Given the description of an element on the screen output the (x, y) to click on. 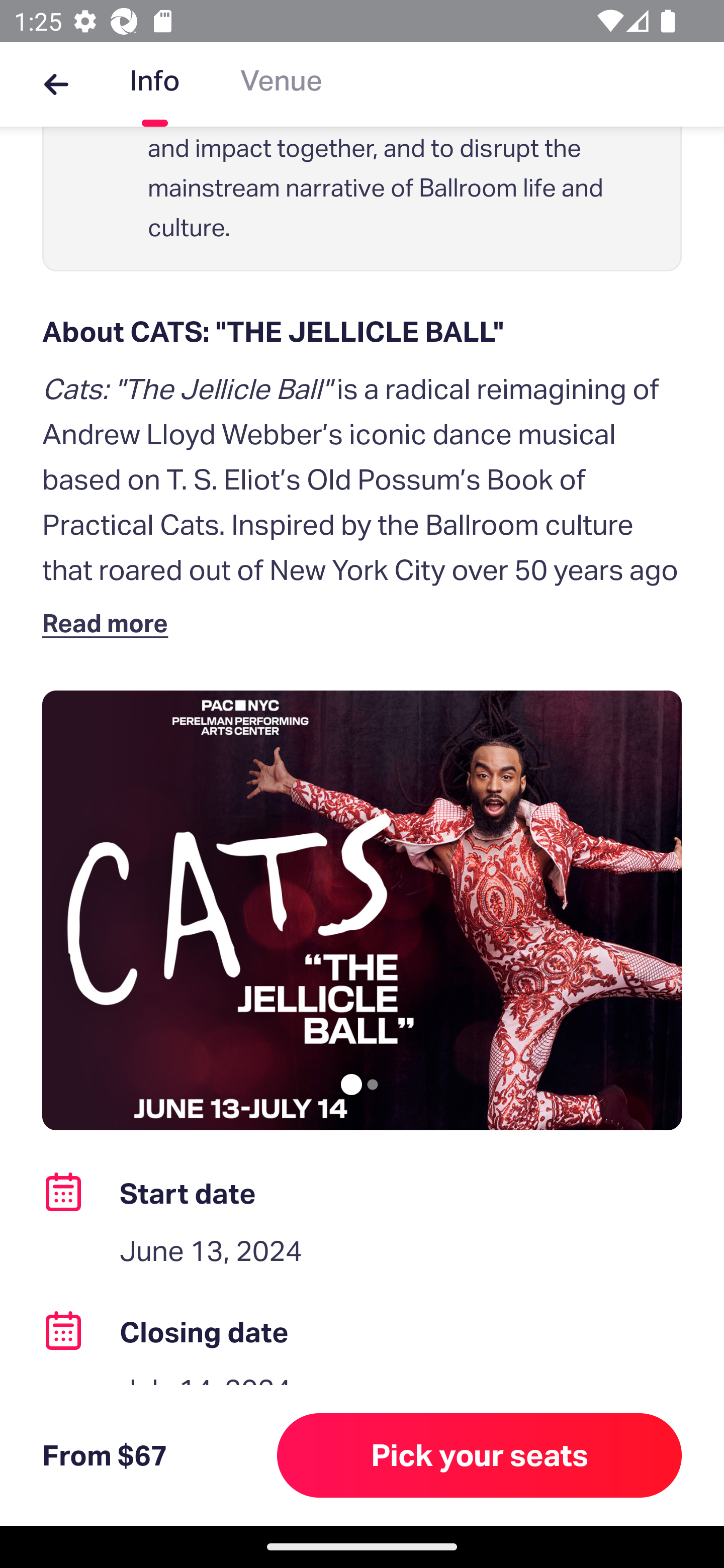
Venue (280, 84)
About CATS: "THE JELLICLE BALL" (361, 331)
Read more (109, 622)
Pick your seats (479, 1454)
